Given the description of an element on the screen output the (x, y) to click on. 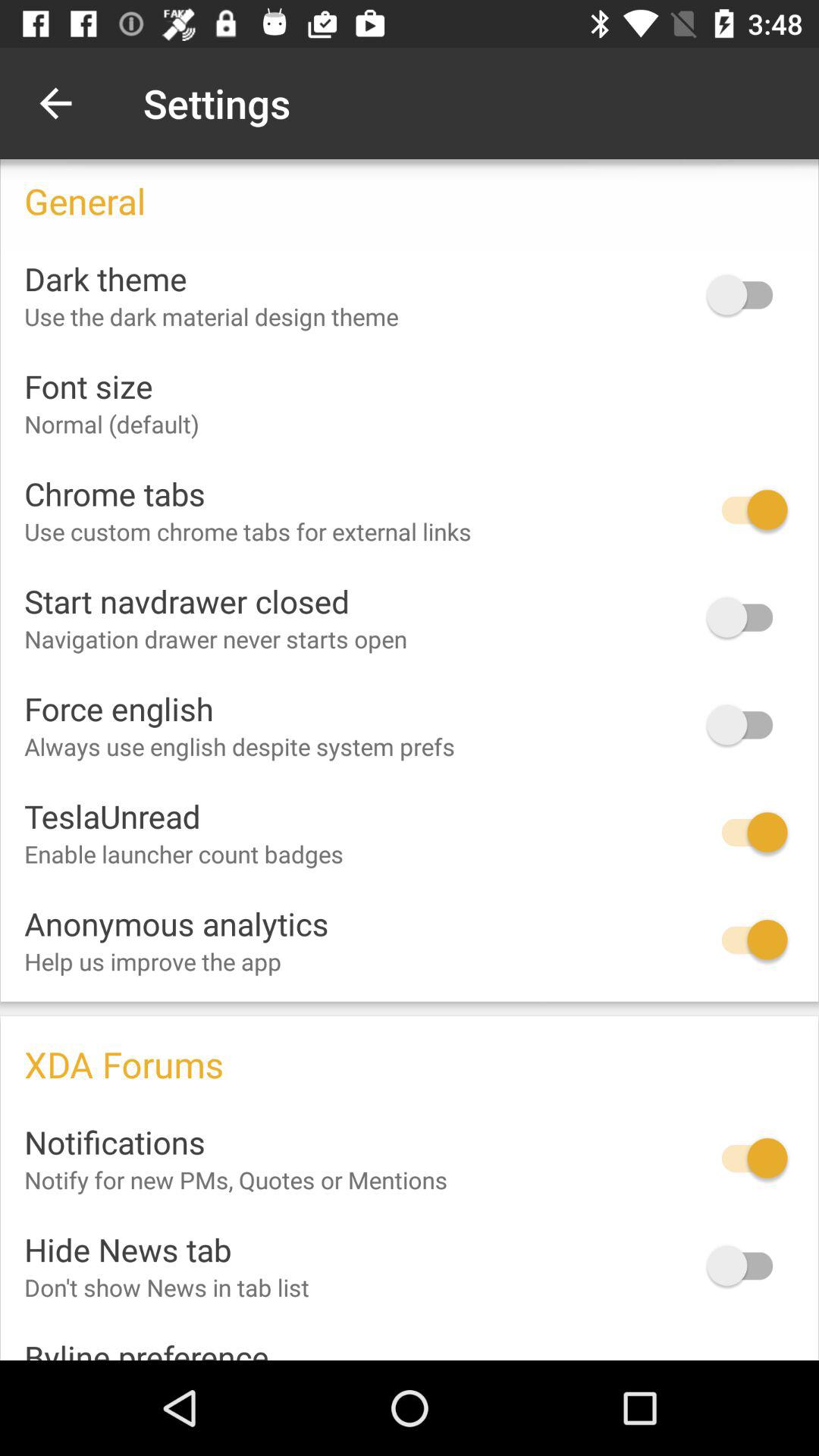
turn on analytics (747, 939)
